Given the description of an element on the screen output the (x, y) to click on. 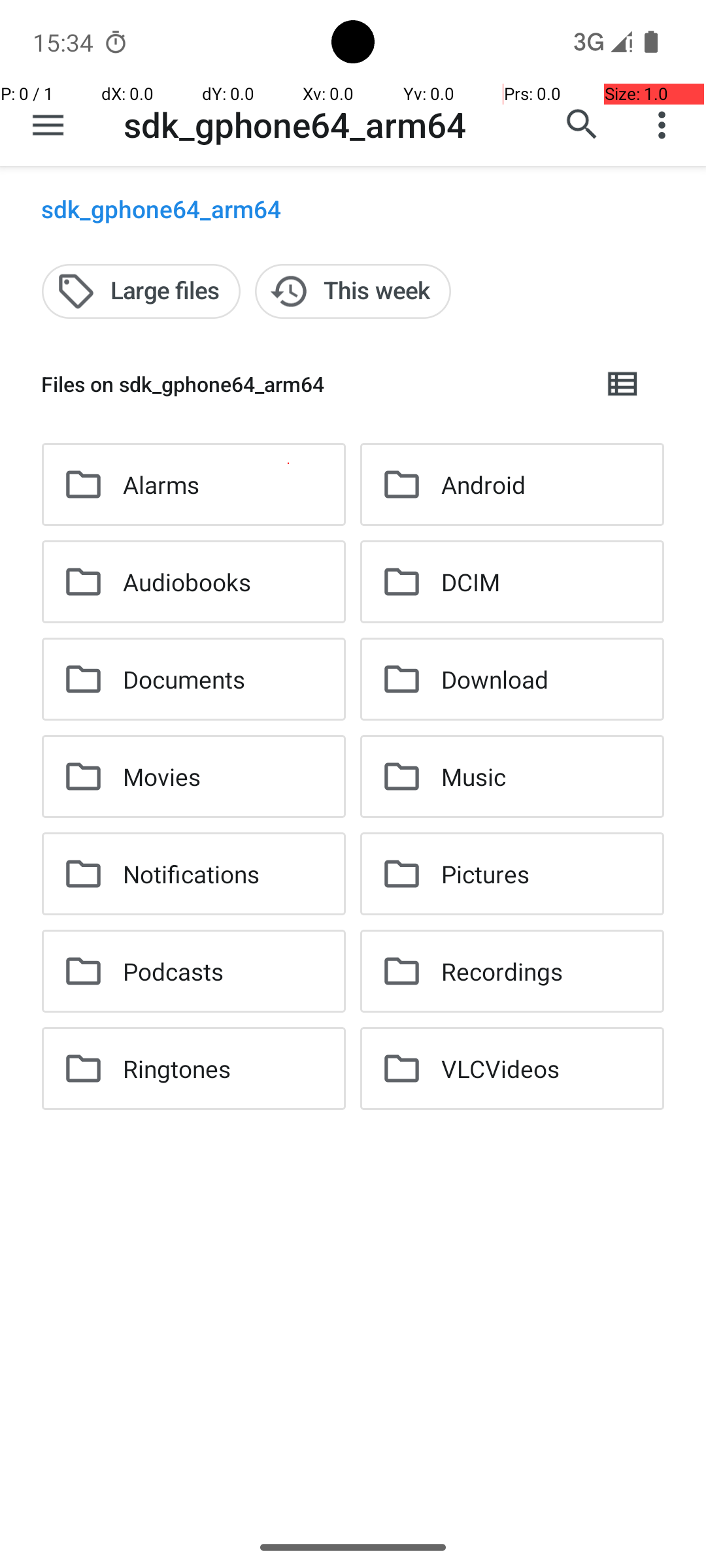
Files on sdk_gphone64_arm64 Element type: android.widget.TextView (311, 383)
Alarms Element type: android.widget.TextView (160, 484)
Android Element type: android.widget.TextView (483, 484)
Audiobooks Element type: android.widget.TextView (186, 581)
Recordings Element type: android.widget.TextView (501, 970)
Ringtones Element type: android.widget.TextView (176, 1068)
